Given the description of an element on the screen output the (x, y) to click on. 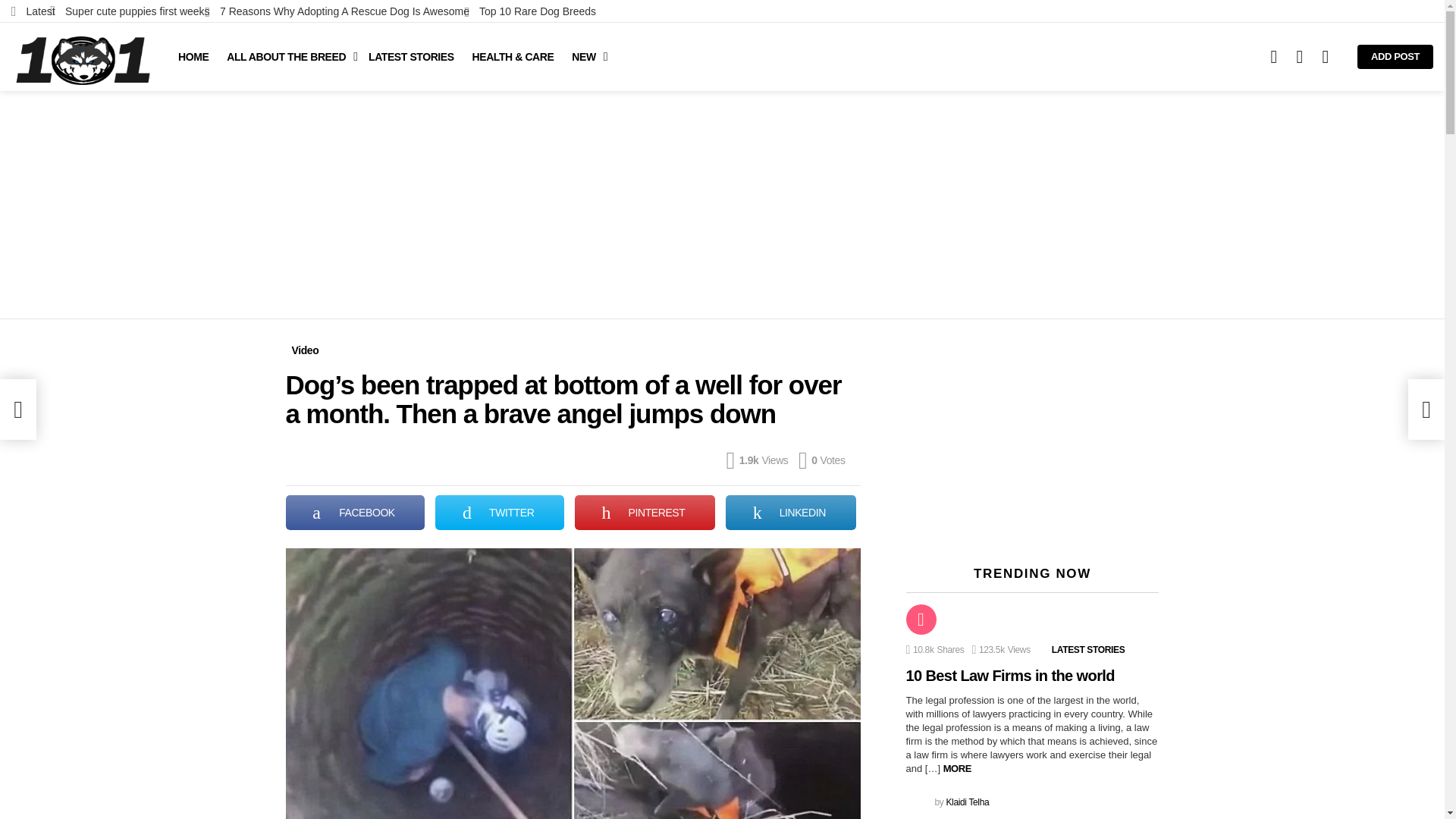
Share on Facebook (355, 512)
HOME (192, 56)
ALL ABOUT THE BREED (288, 56)
LATEST STORIES (411, 56)
Super cute puppies first weeks (129, 10)
7 Reasons Why Adopting A Rescue Dog Is Awesome (336, 10)
Latest (33, 10)
Share on LinkedIn (790, 512)
NEW (585, 56)
